Given the description of an element on the screen output the (x, y) to click on. 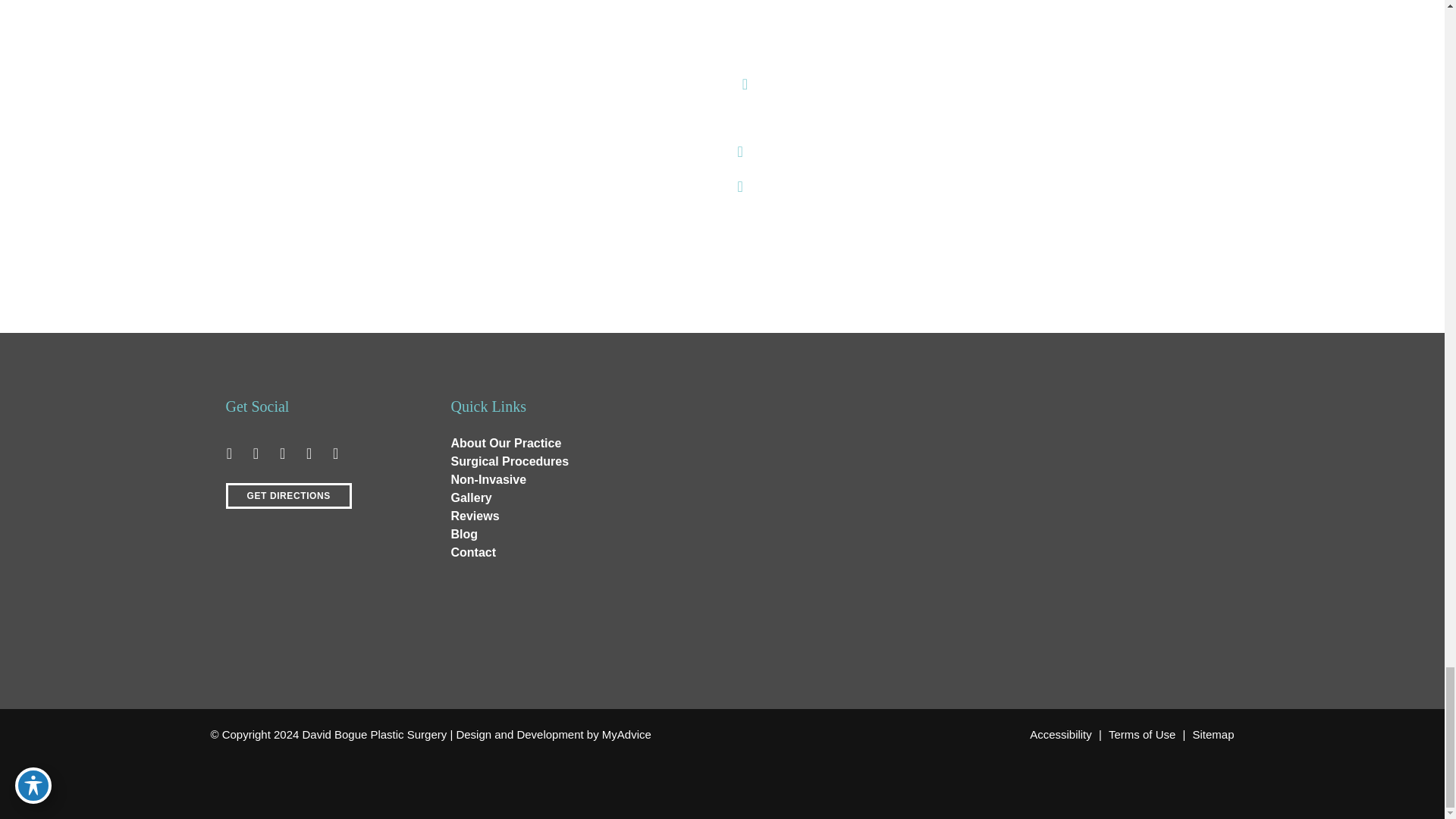
Map Location (956, 467)
